Given the description of an element on the screen output the (x, y) to click on. 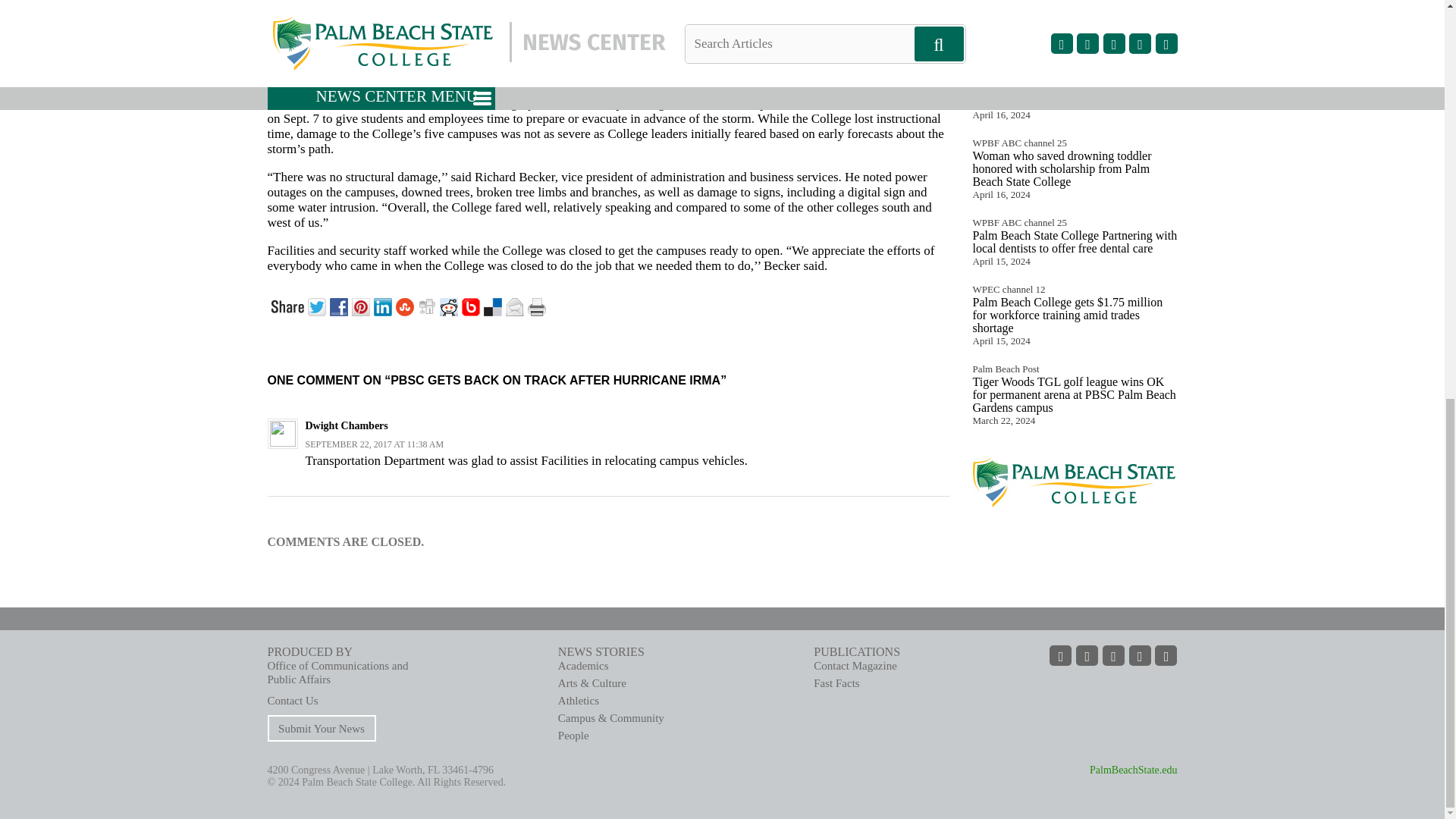
Facebook (339, 305)
Print (538, 305)
Delicious (494, 305)
SEPTEMBER 22, 2017 AT 11:38 AM (374, 443)
Digg (427, 305)
Pinterest (363, 305)
StumbleUpon (406, 305)
Linkedin (383, 305)
Twitter (318, 305)
Bebo (472, 305)
Reddit (450, 305)
Email (516, 305)
